Given the description of an element on the screen output the (x, y) to click on. 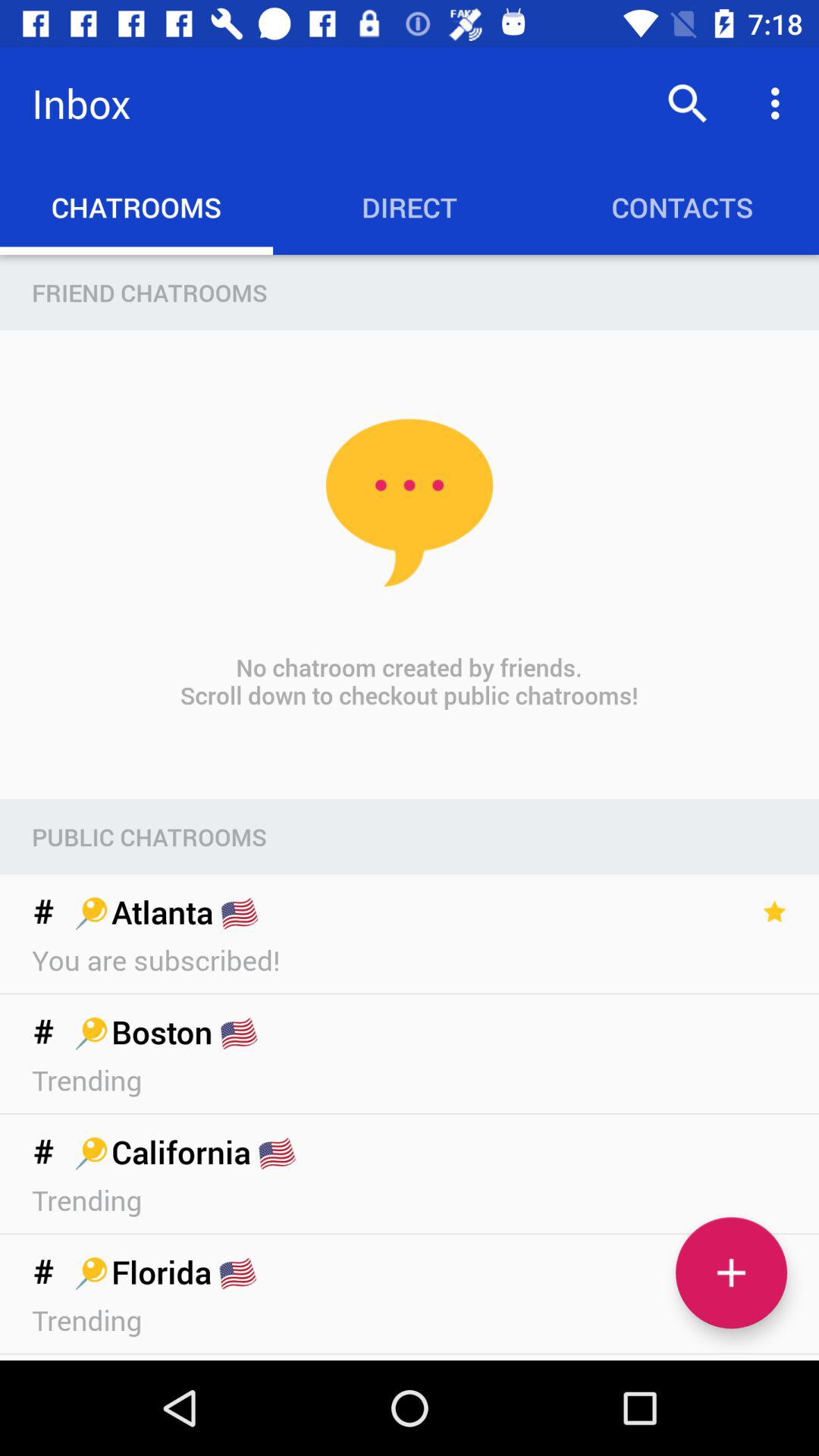
create chatroom (731, 1272)
